Given the description of an element on the screen output the (x, y) to click on. 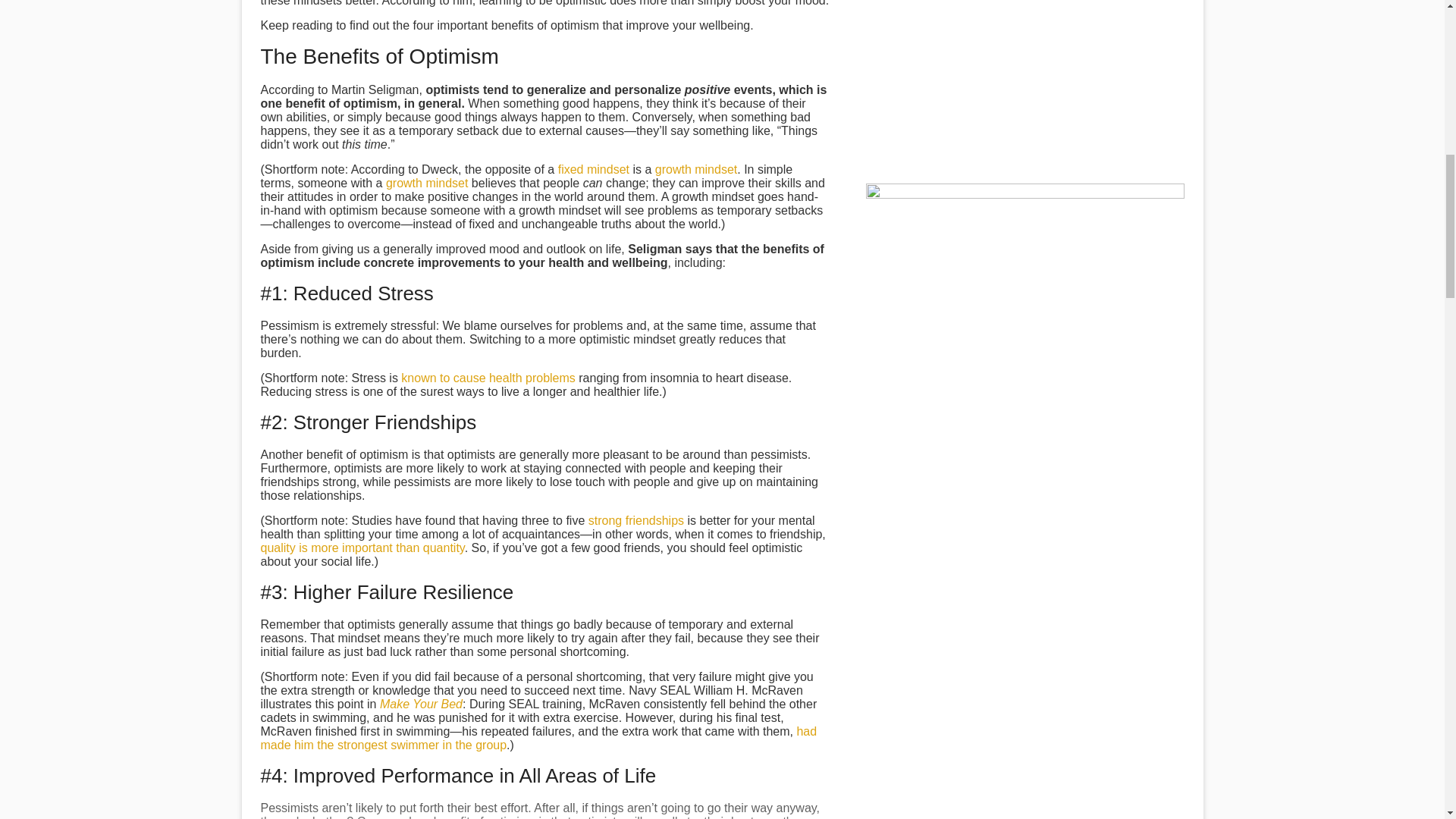
quality is more important than quantity (362, 547)
growth mindset (696, 169)
fixed mindset (592, 169)
growth mindset (426, 182)
strong friendships (636, 520)
had made him the strongest swimmer in the group (538, 737)
known to cause health problems (488, 377)
Make Your Bed (421, 703)
